Given the description of an element on the screen output the (x, y) to click on. 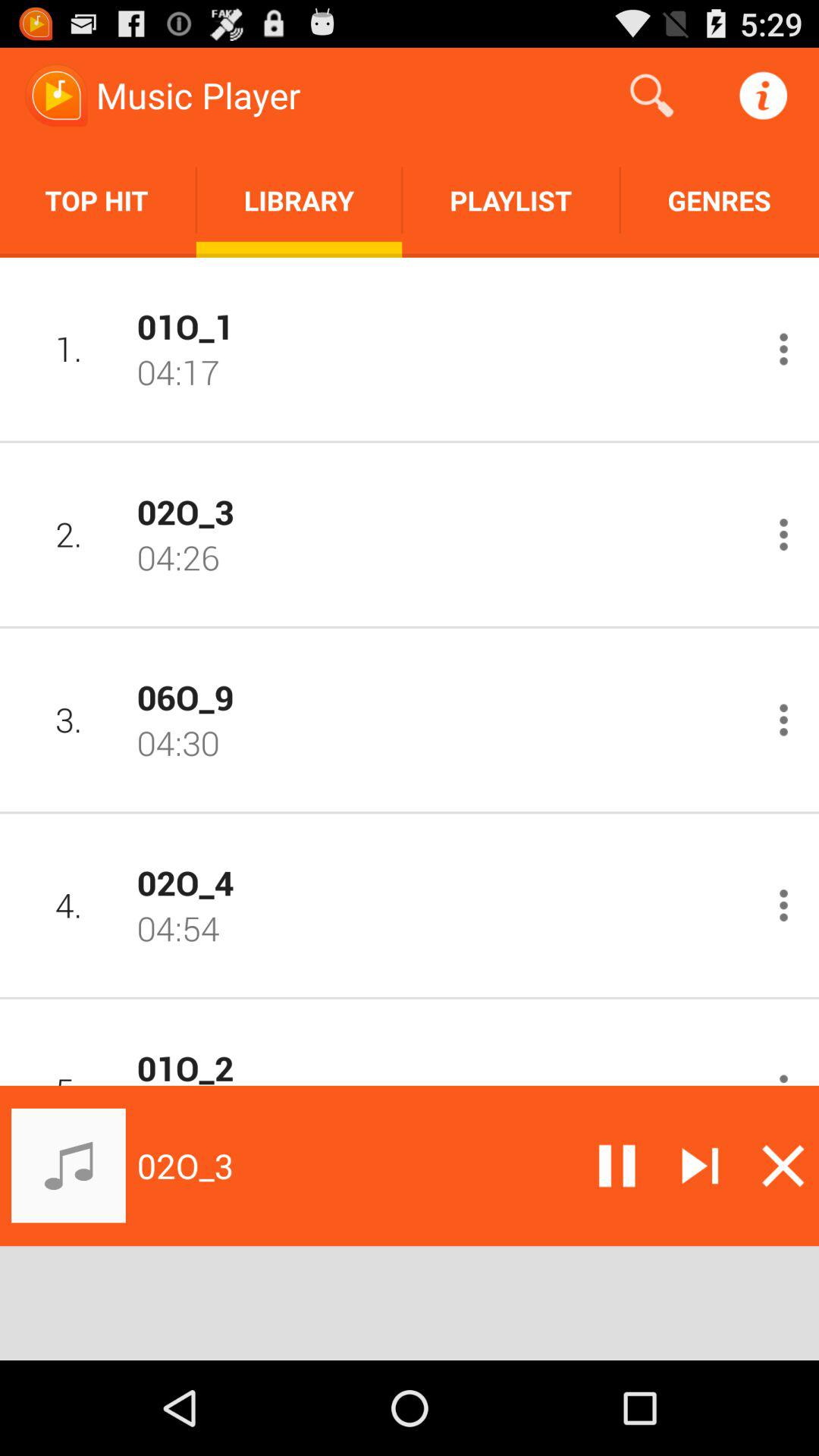
play song (783, 719)
